Given the description of an element on the screen output the (x, y) to click on. 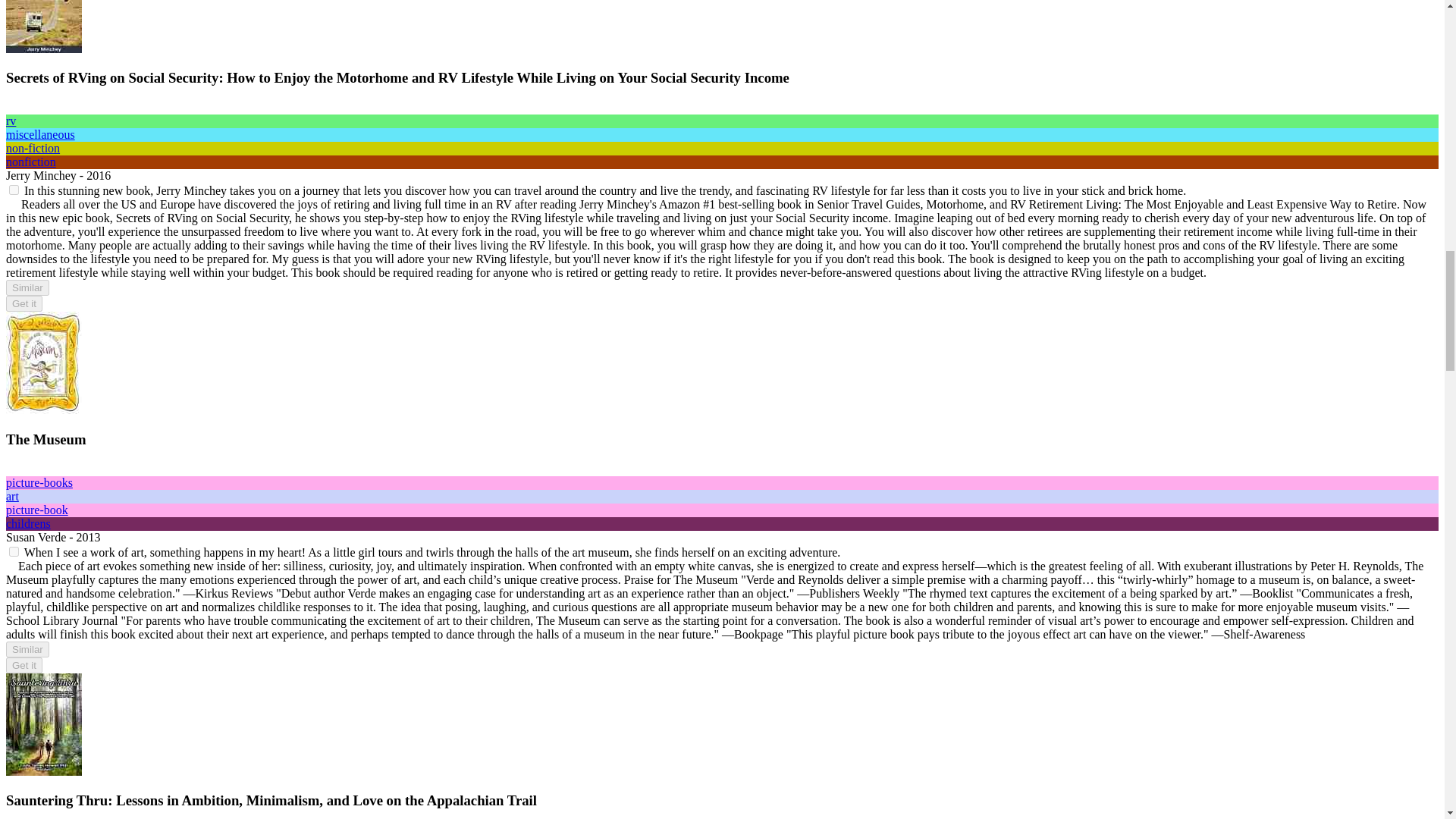
on (13, 551)
on (13, 189)
miscellaneous (40, 133)
rv (10, 120)
non-fiction (32, 147)
nonfiction (30, 161)
